Given the description of an element on the screen output the (x, y) to click on. 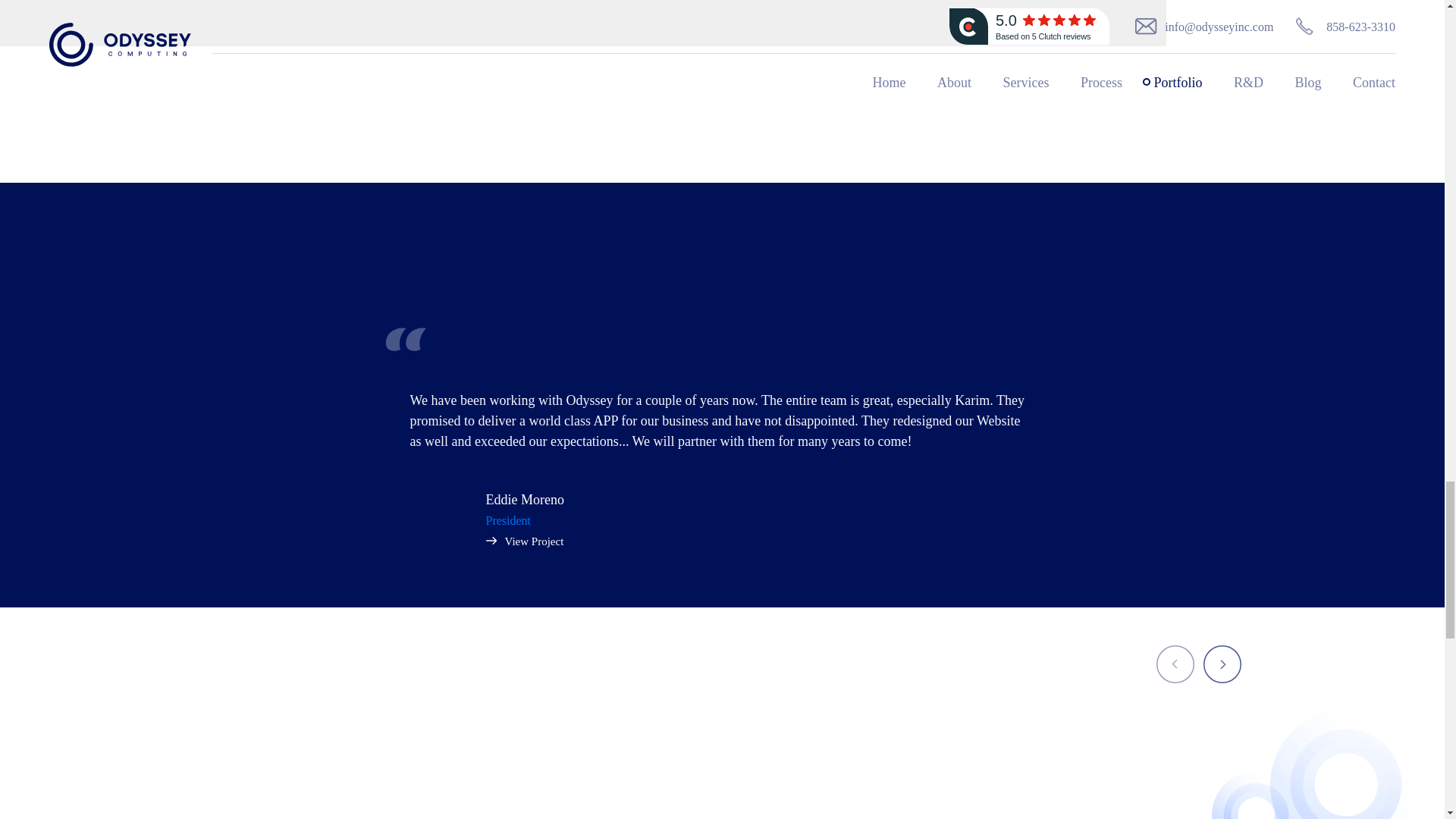
View Project (523, 541)
